Given the description of an element on the screen output the (x, y) to click on. 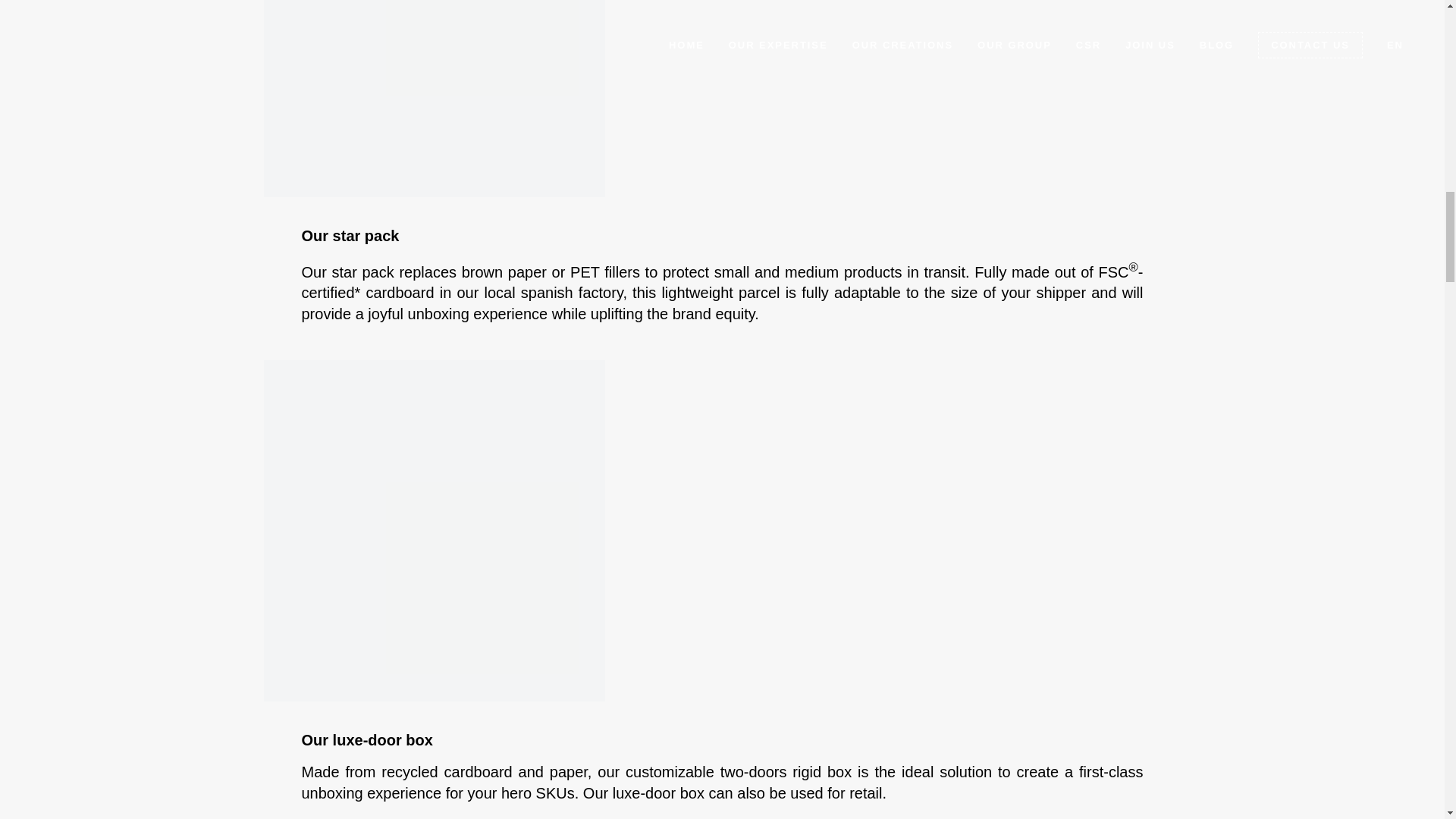
luxe-door pack (434, 530)
star pack (434, 98)
